Given the description of an element on the screen output the (x, y) to click on. 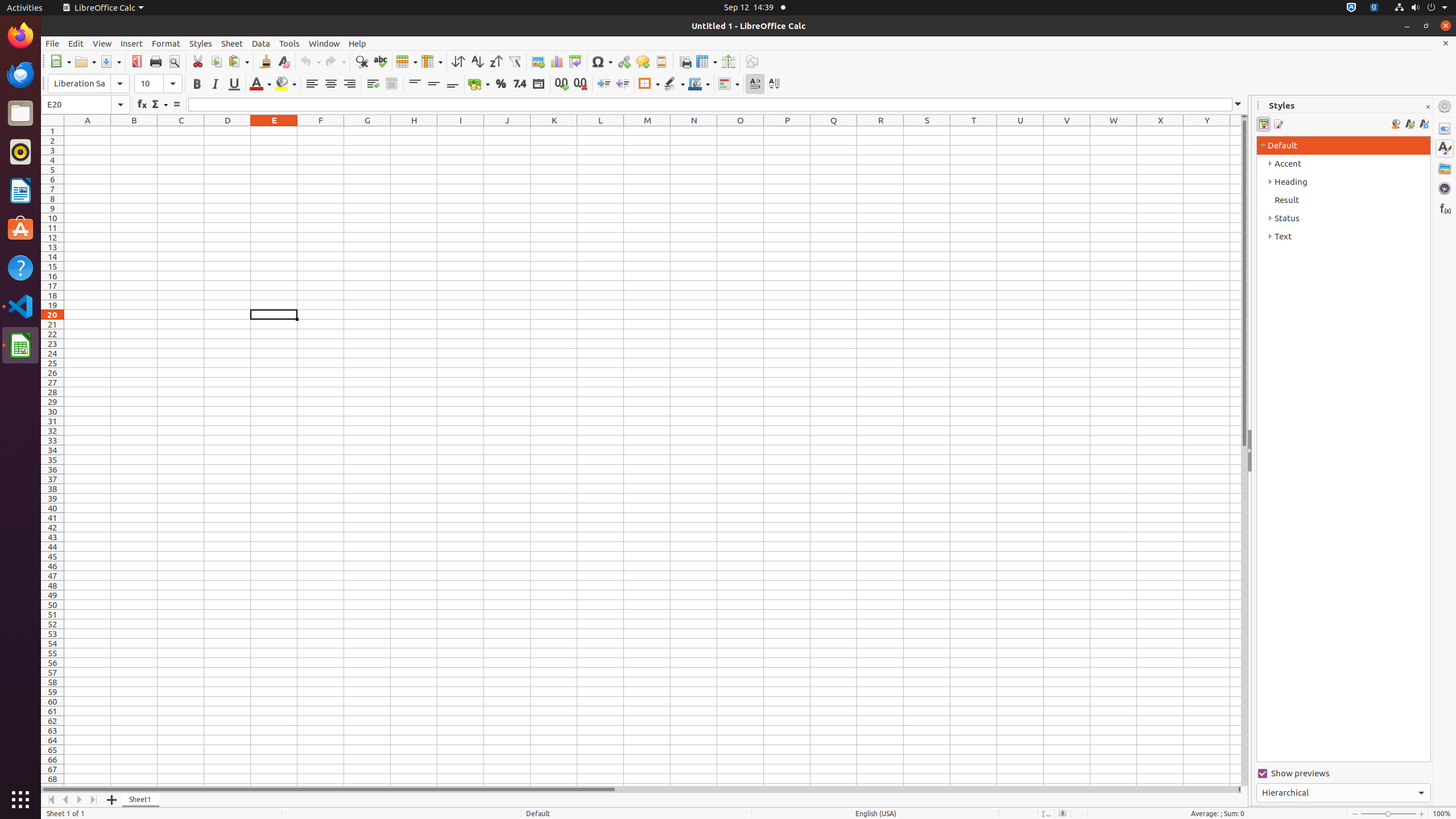
Data Element type: menu (260, 43)
:1.21/StatusNotifierItem Element type: menu (1373, 7)
Increase Element type: push-button (603, 83)
Hyperlink Element type: toggle-button (623, 61)
Currency Element type: push-button (478, 83)
